Given the description of an element on the screen output the (x, y) to click on. 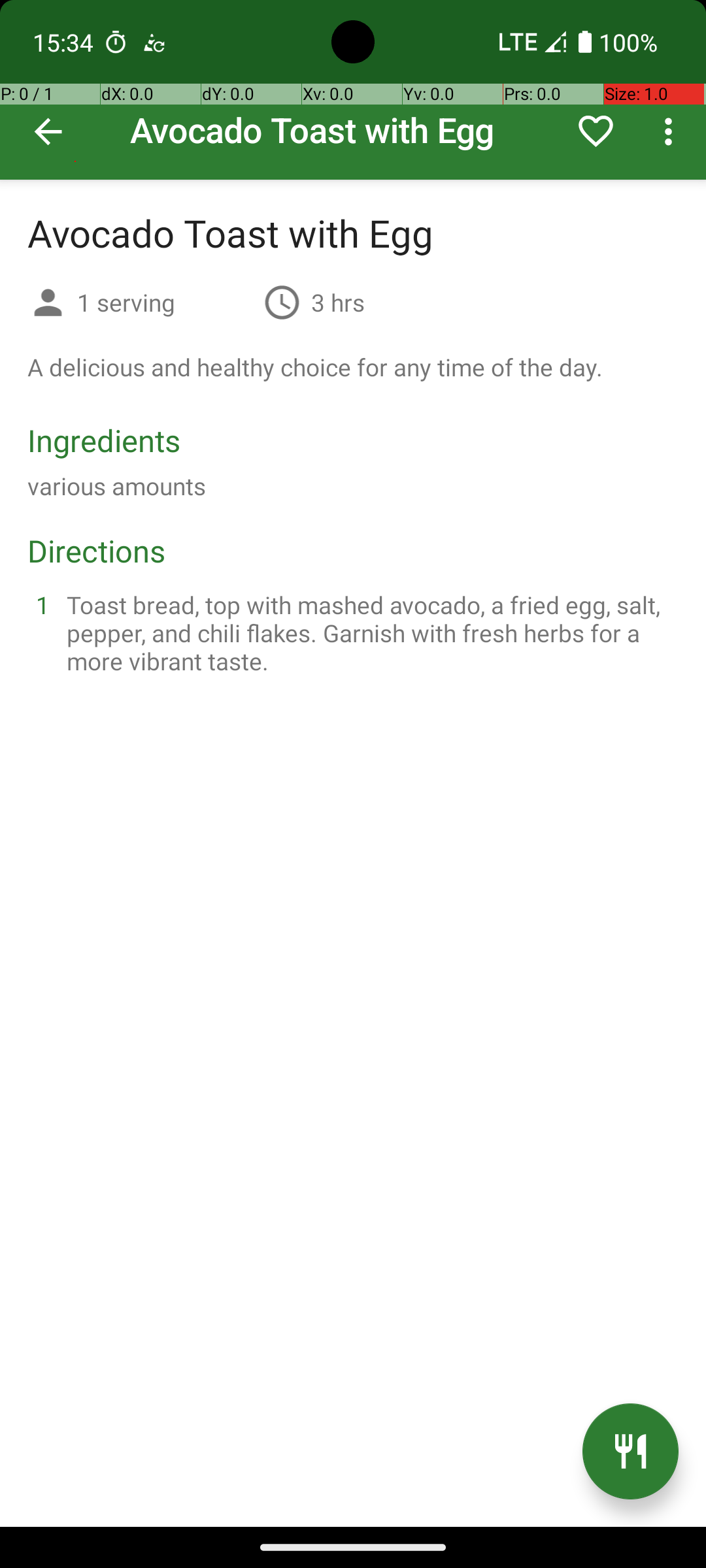
Toast bread, top with mashed avocado, a fried egg, salt, pepper, and chili flakes. Garnish with fresh herbs for a more vibrant taste. Element type: android.widget.TextView (368, 632)
